Given the description of an element on the screen output the (x, y) to click on. 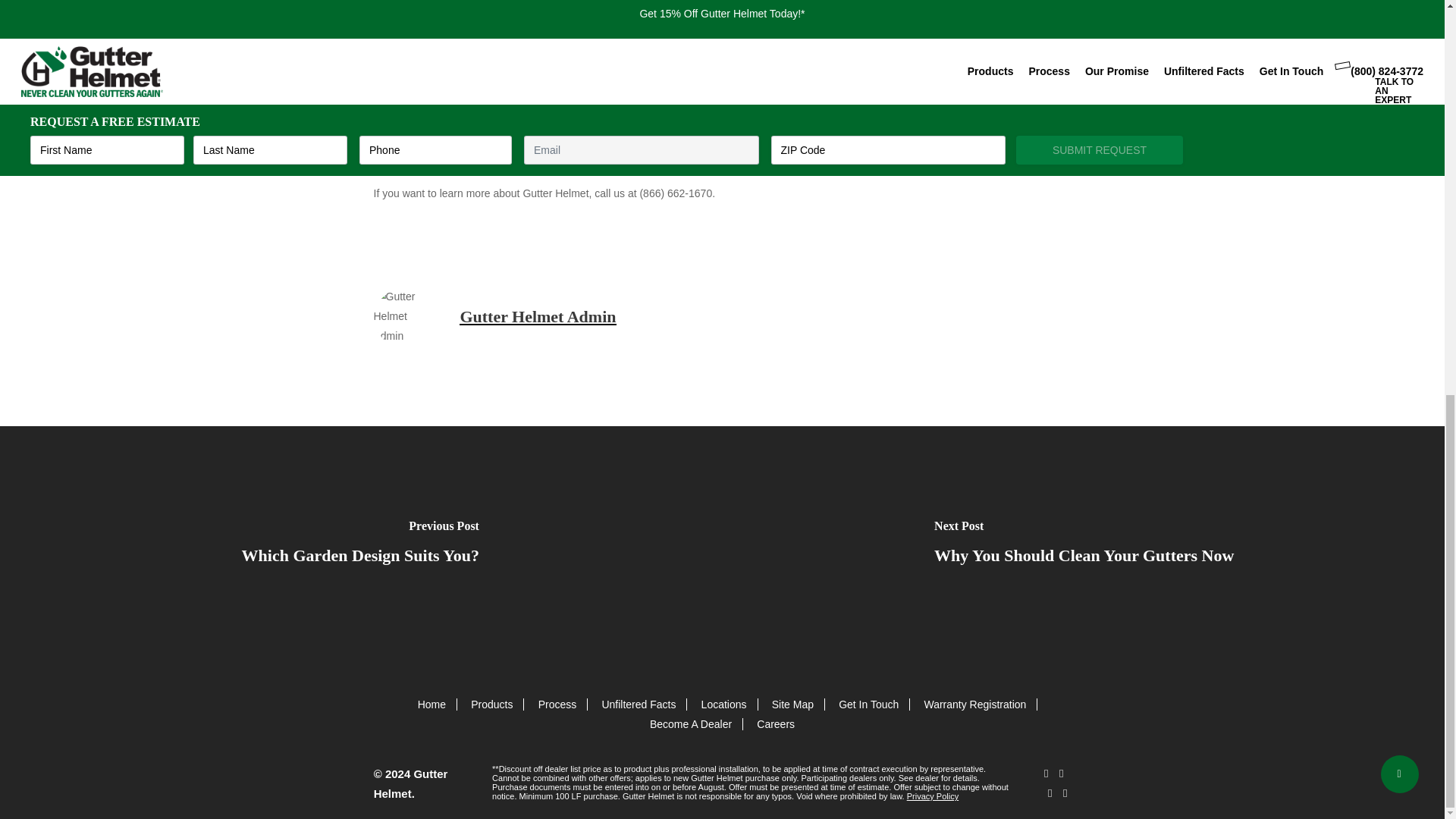
Process (557, 704)
Home (431, 704)
Gutter Helmet Admin (537, 316)
Locations (723, 704)
Site Map (792, 704)
Privacy Policy (932, 795)
Careers (775, 724)
Unfiltered Facts (638, 704)
Become A Dealer (690, 724)
Products (491, 704)
Get In Touch (868, 704)
how to install gutter covers Albert Lea, Minnesota (659, 118)
how to install gutter covers in Albert Lea, Minnesota (659, 118)
Warranty Registration (974, 704)
